Given the description of an element on the screen output the (x, y) to click on. 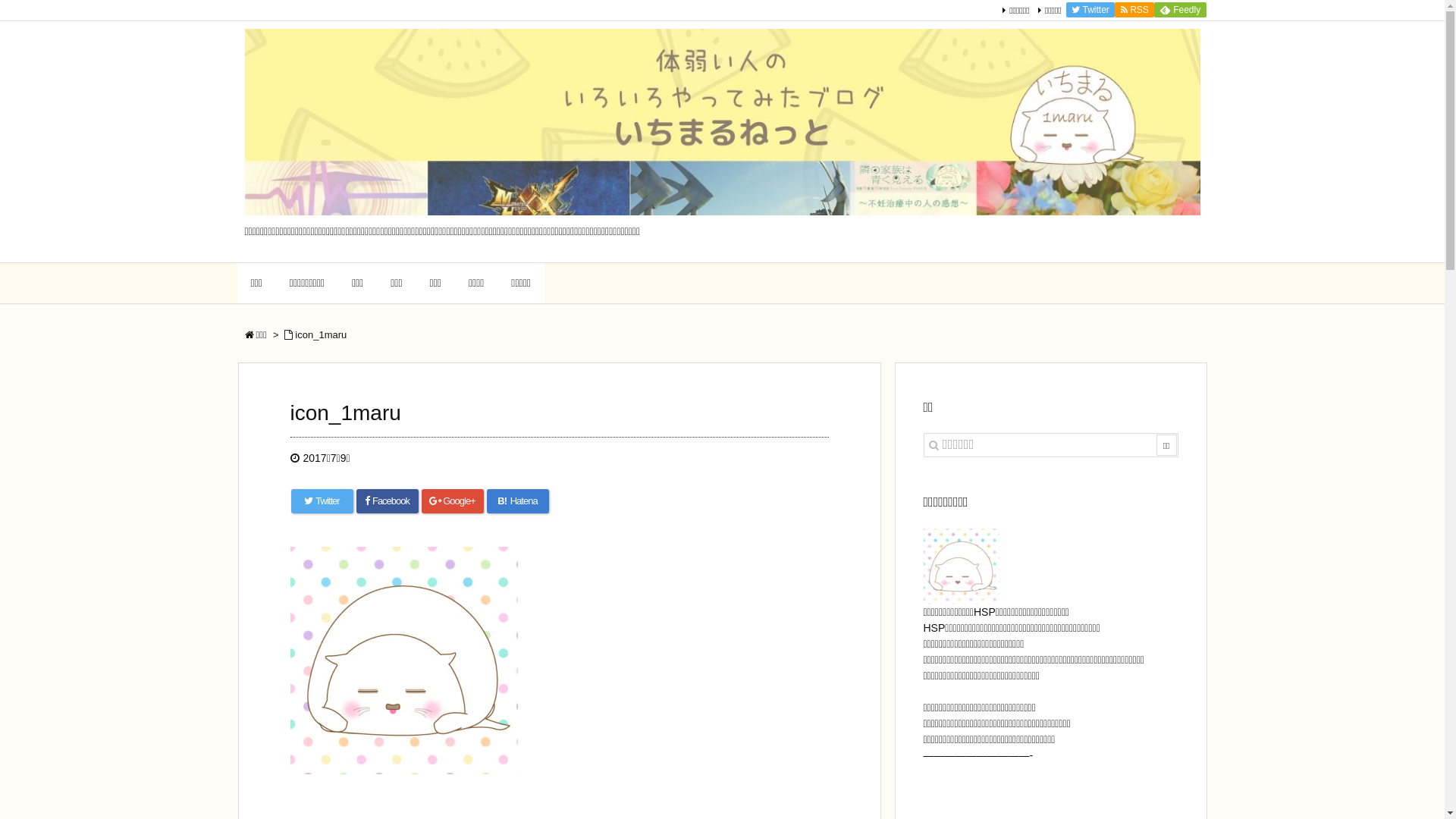
  RSS  Element type: text (1134, 9)
 Facebook Element type: text (387, 501)
  Twitter  Element type: text (1090, 9)
  Feedly  Element type: text (1179, 9)
 Twitter Element type: text (322, 501)
B! Hatena Element type: text (517, 501)
 Google+ Element type: text (452, 501)
